Given the description of an element on the screen output the (x, y) to click on. 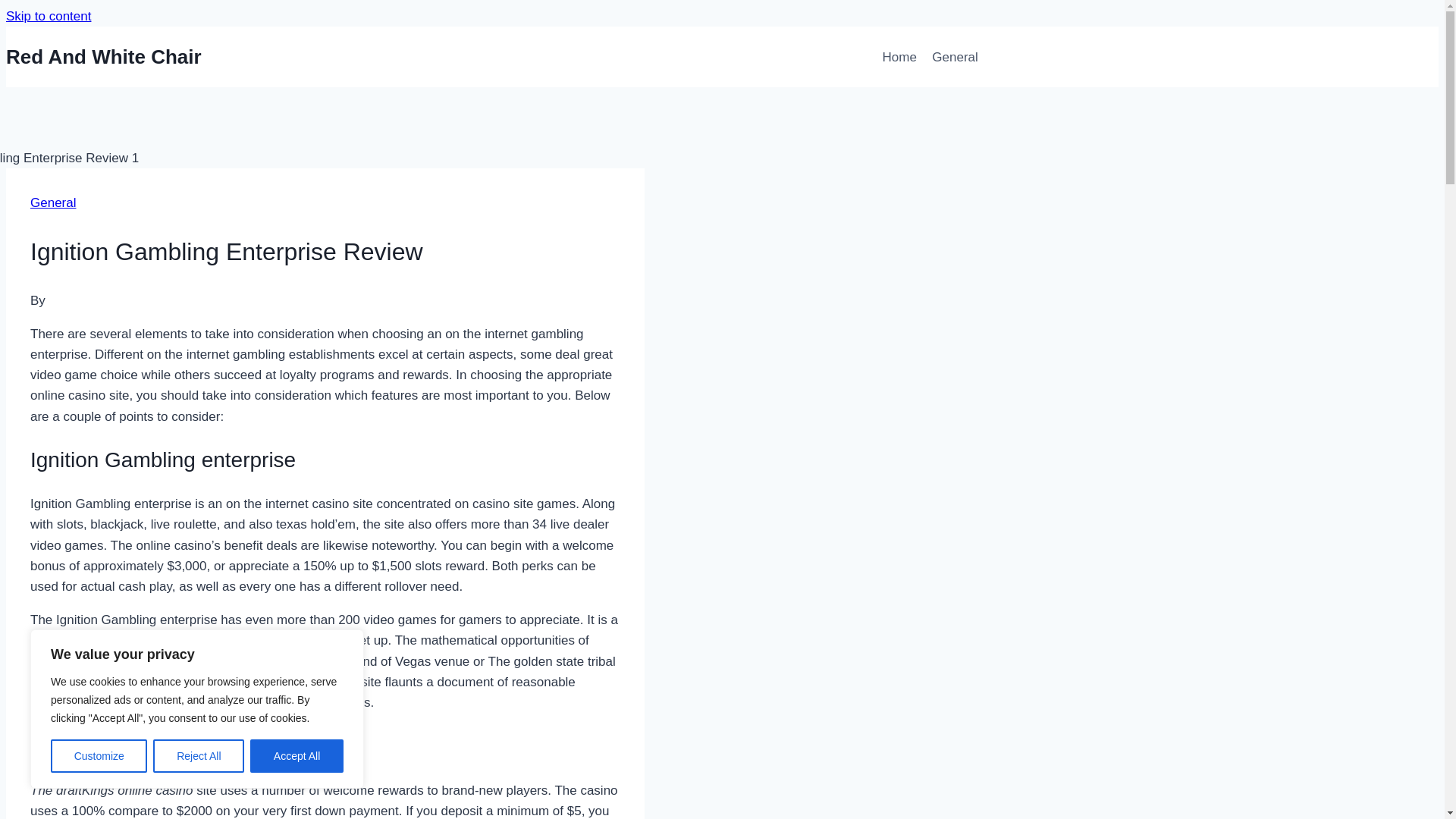
Accept All (296, 756)
Skip to content (47, 16)
Reject All (198, 756)
Customize (98, 756)
Skip to content (47, 16)
Home (907, 56)
General (52, 202)
Red And White Chair (103, 56)
General (962, 56)
